Given the description of an element on the screen output the (x, y) to click on. 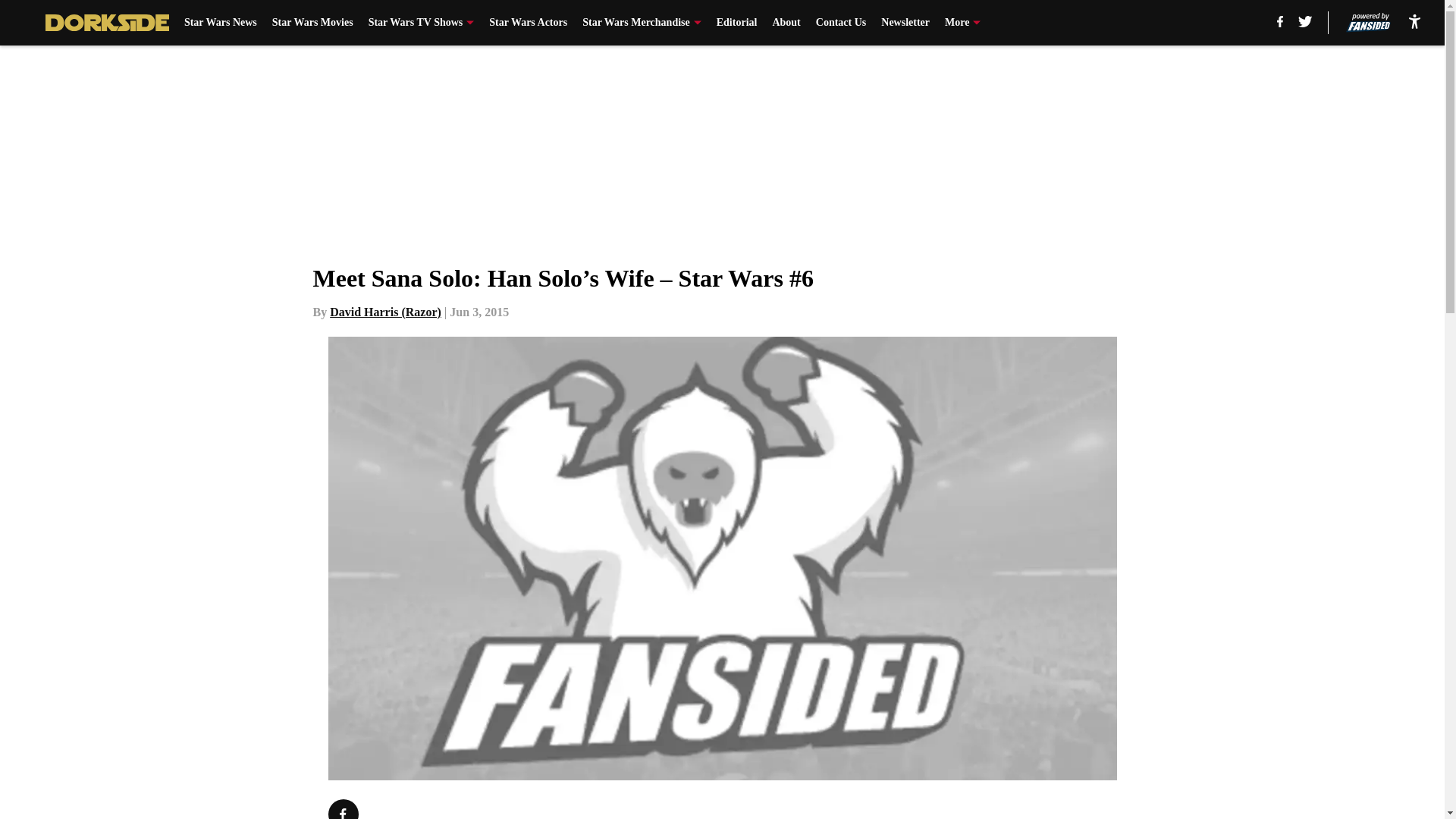
Contact Us (840, 22)
Editorial (736, 22)
About (785, 22)
Newsletter (905, 22)
More (961, 22)
Star Wars Merchandise (641, 22)
Star Wars TV Shows (421, 22)
Star Wars Actors (528, 22)
Star Wars Movies (312, 22)
Star Wars News (220, 22)
